Given the description of an element on the screen output the (x, y) to click on. 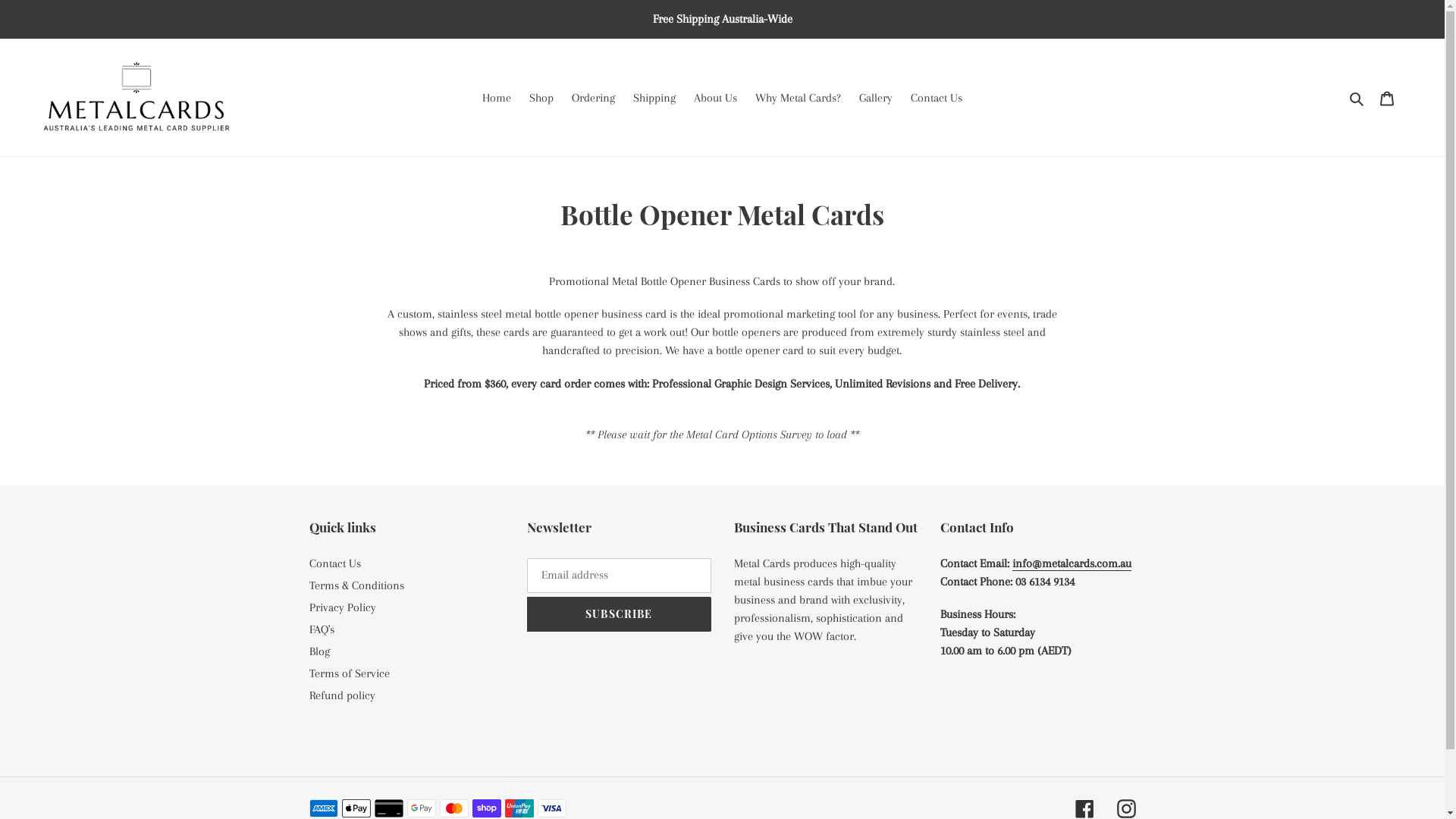
Terms of Service Element type: text (349, 673)
Search Element type: text (1357, 97)
FAQ's Element type: text (321, 629)
Why Metal Cards? Element type: text (797, 97)
Blog Element type: text (319, 651)
About Us Element type: text (715, 97)
Instagram Element type: text (1125, 808)
Contact Us Element type: text (334, 563)
Gallery Element type: text (875, 97)
Contact Us Element type: text (936, 97)
Terms & Conditions Element type: text (356, 585)
Home Element type: text (496, 97)
Ordering Element type: text (593, 97)
Shipping Element type: text (654, 97)
SUBSCRIBE Element type: text (619, 613)
Facebook Element type: text (1084, 808)
Shop Element type: text (541, 97)
info@metalcards.com.au Element type: text (1071, 563)
Cart Element type: text (1386, 96)
Refund policy Element type: text (342, 695)
Privacy Policy Element type: text (342, 607)
